Given the description of an element on the screen output the (x, y) to click on. 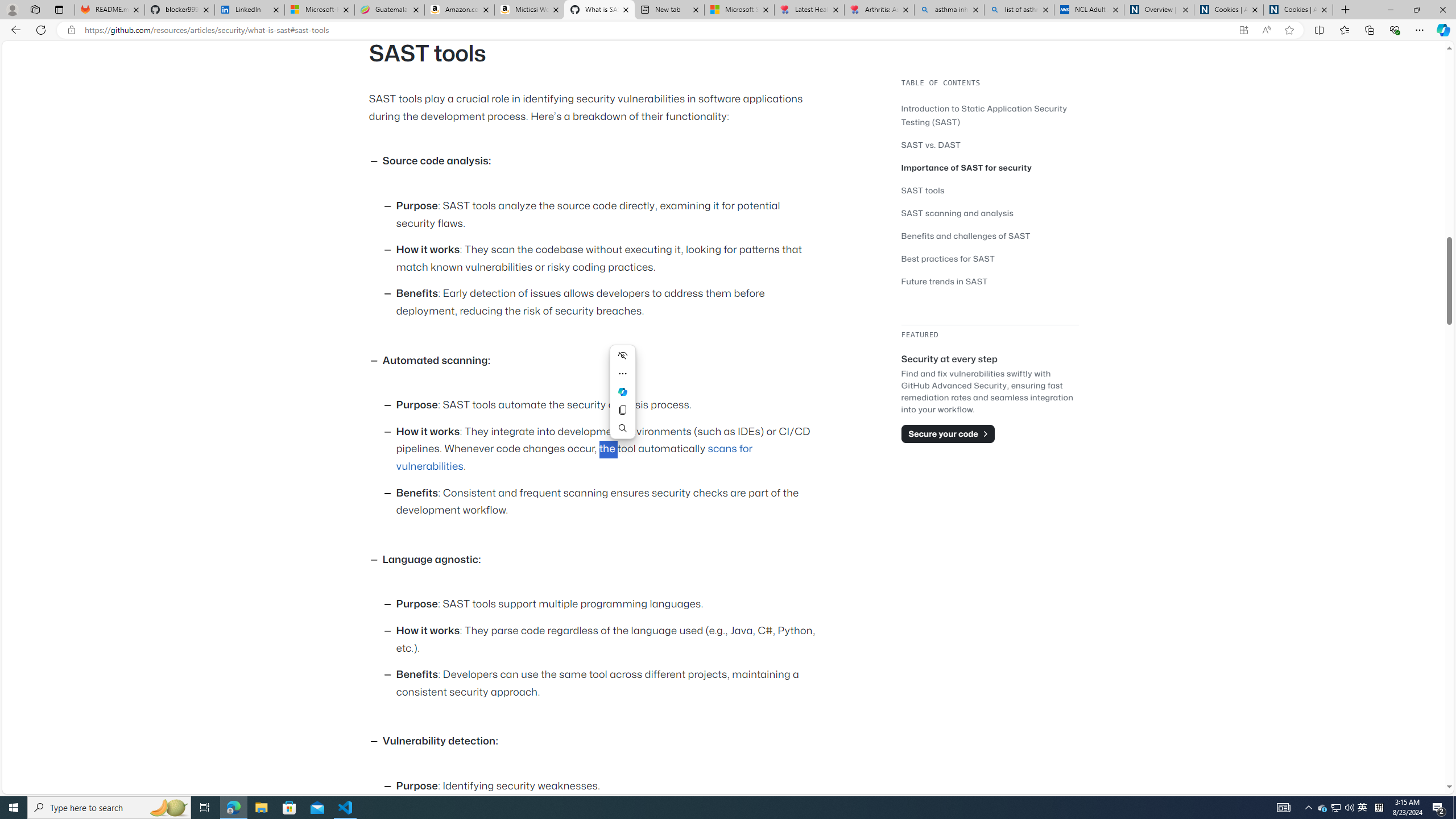
Cookies | About | NICE (1297, 9)
Best practices for SAST (989, 258)
scans for vulnerabilities (574, 457)
SAST vs. DAST (930, 144)
SAST scanning and analysis (957, 212)
